Given the description of an element on the screen output the (x, y) to click on. 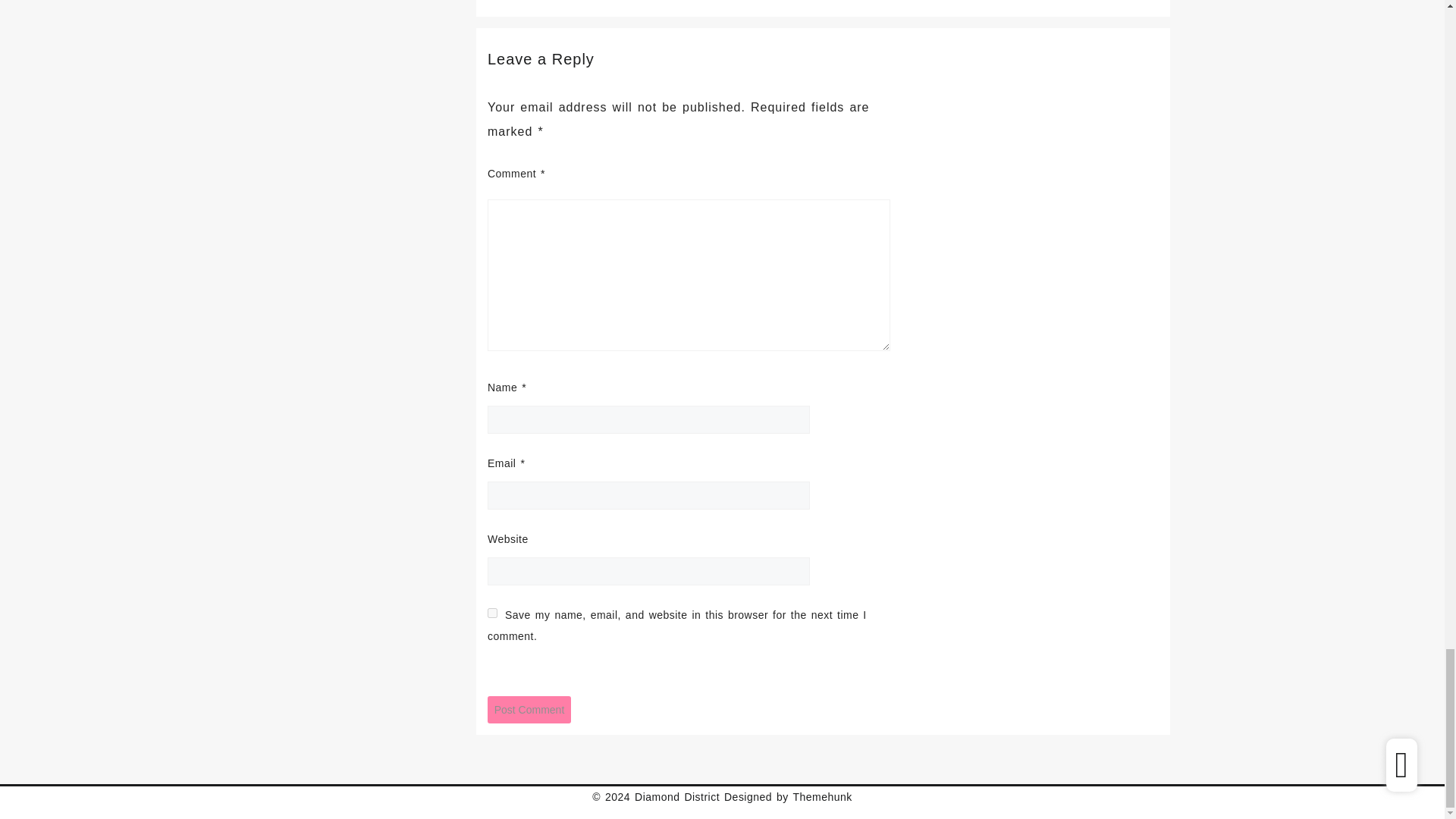
yes (492, 613)
Post Comment (528, 709)
